Given the description of an element on the screen output the (x, y) to click on. 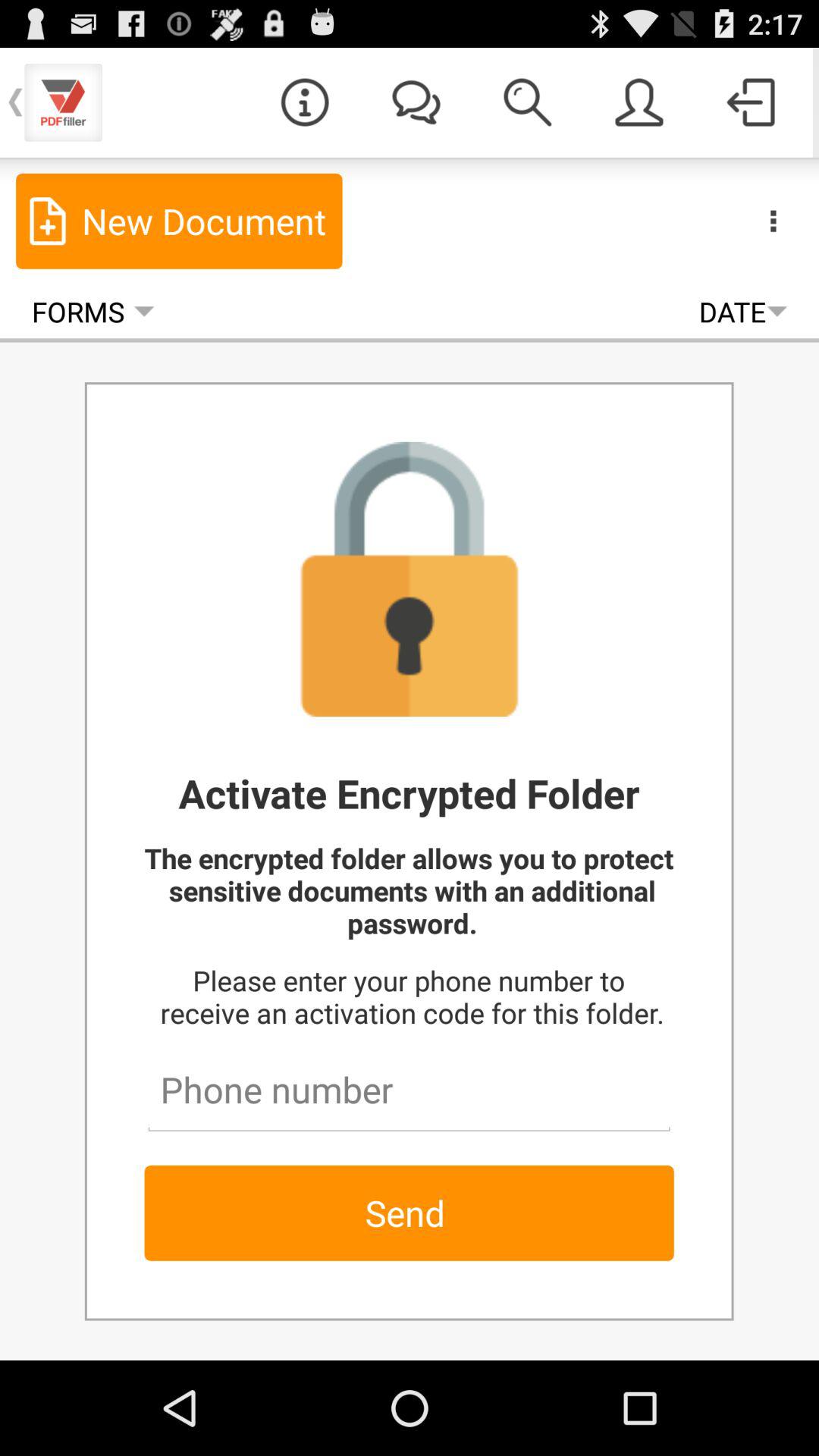
click the item next to the new document item (773, 220)
